Given the description of an element on the screen output the (x, y) to click on. 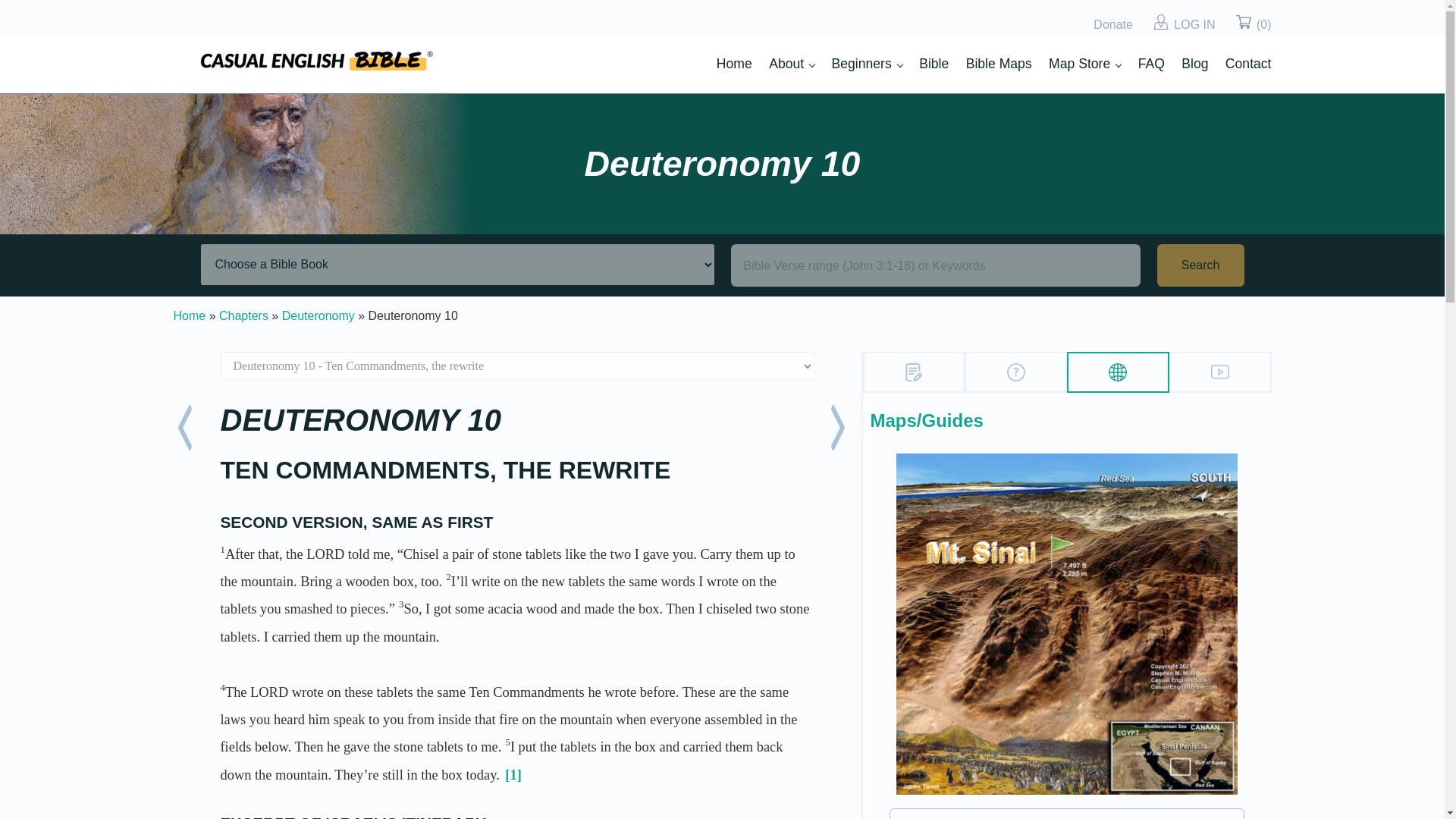
LOG IN (1193, 25)
Map Store (1084, 64)
About (790, 64)
Footnotes (913, 371)
FAQ (1151, 64)
Donate (1112, 25)
Videos (1219, 371)
Beginners (866, 64)
Blog (1194, 64)
Maps (1117, 371)
Discussion Questions (1015, 371)
Contact (1248, 64)
Bible (933, 64)
Map: Mount Sinai map (1066, 624)
Bible Maps (999, 64)
